Given the description of an element on the screen output the (x, y) to click on. 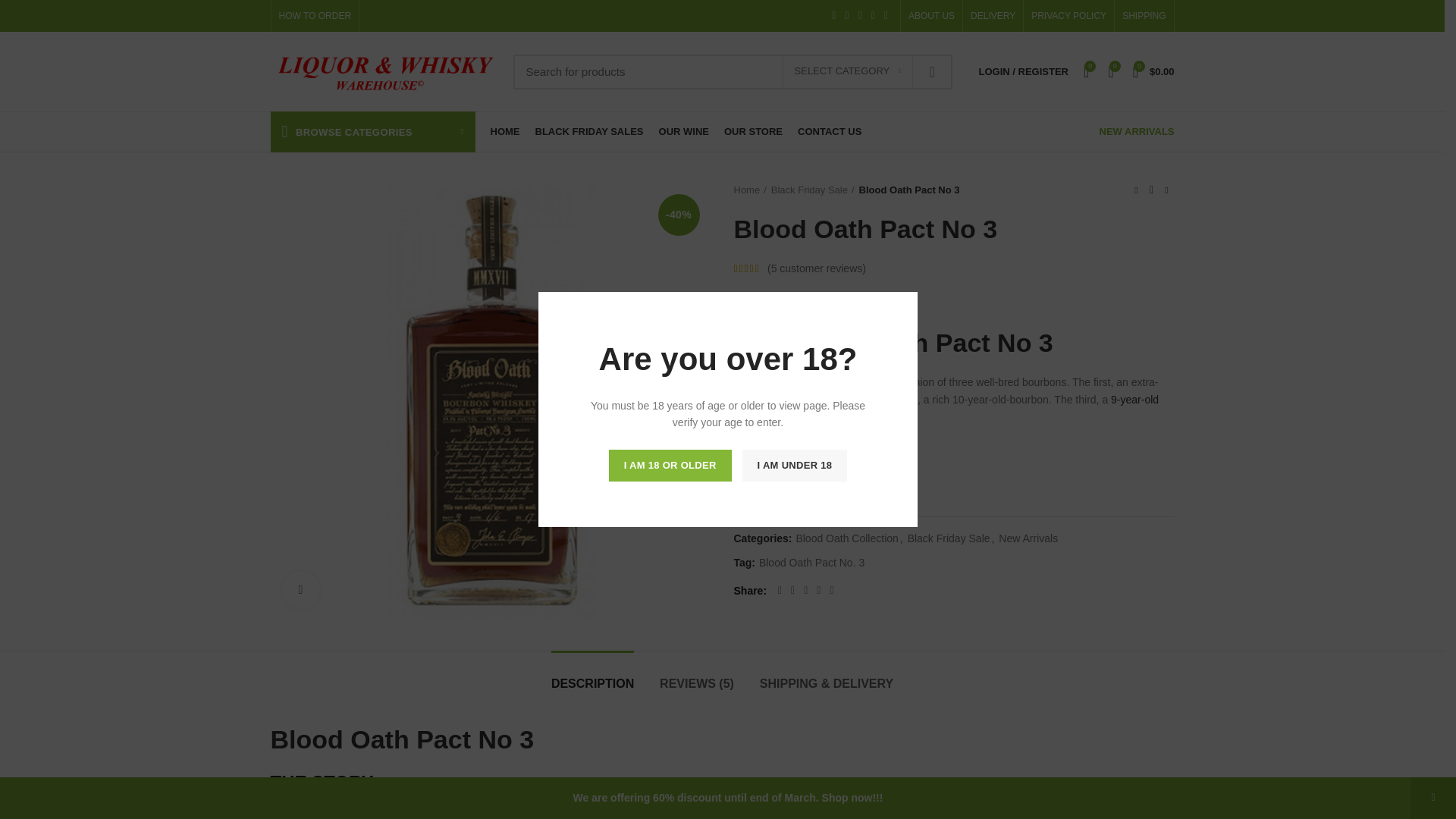
My account (1023, 71)
PRIVACY POLICY (1068, 15)
ABOUT US (931, 15)
DELIVERY (992, 15)
SELECT CATEGORY (847, 71)
Shopping cart (1153, 71)
1 (763, 455)
SELECT CATEGORY (847, 71)
HOW TO ORDER (314, 15)
Search for products (732, 71)
SHIPPING (1144, 15)
- (742, 455)
Qty (763, 455)
Compare products (1110, 71)
I AM UNDER 18 (794, 465)
